Given the description of an element on the screen output the (x, y) to click on. 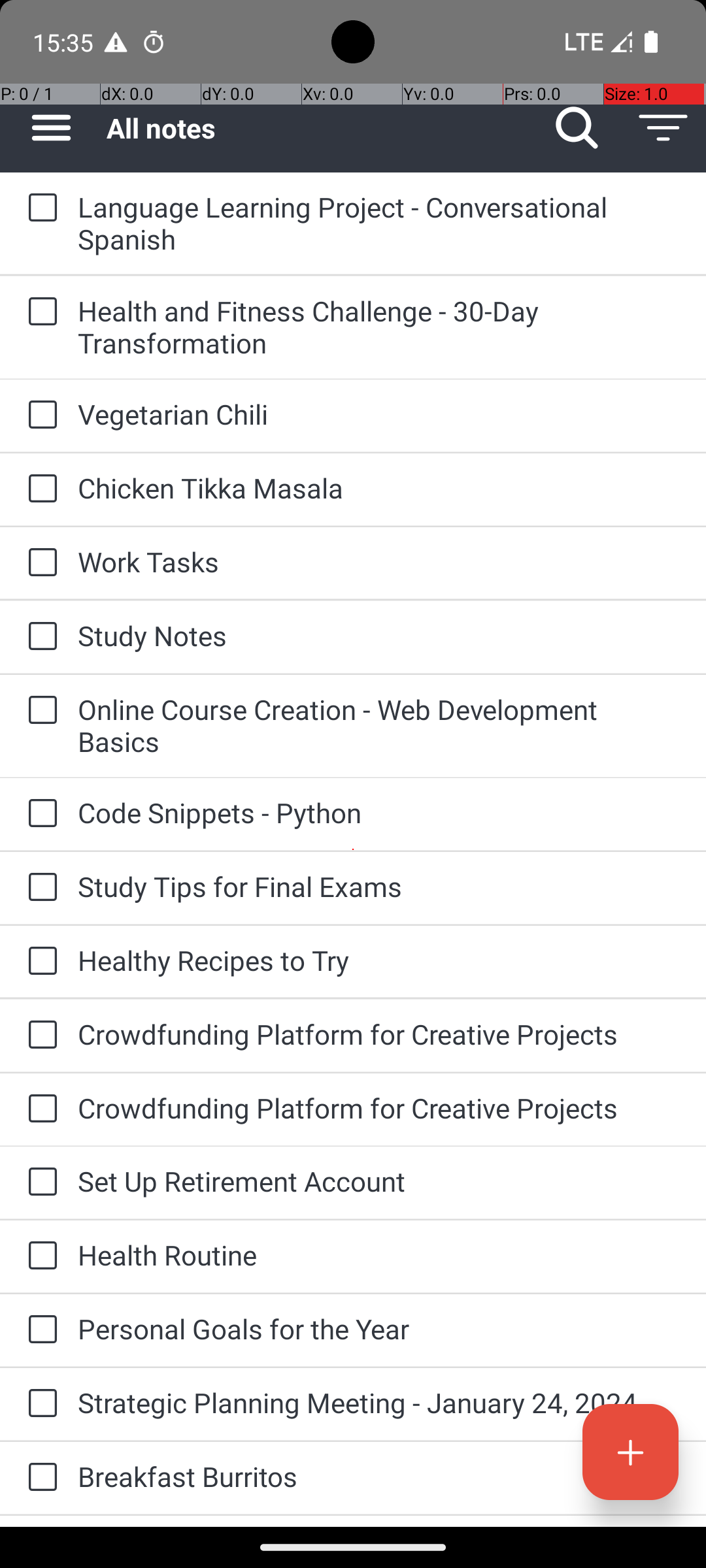
to-do: Language Learning Project - Conversational Spanish Element type: android.widget.CheckBox (38, 208)
Language Learning Project - Conversational Spanish Element type: android.widget.TextView (378, 222)
to-do: Health and Fitness Challenge - 30-Day Transformation Element type: android.widget.CheckBox (38, 312)
Health and Fitness Challenge - 30-Day Transformation Element type: android.widget.TextView (378, 326)
to-do: Vegetarian Chili Element type: android.widget.CheckBox (38, 415)
Vegetarian Chili Element type: android.widget.TextView (378, 413)
to-do: Chicken Tikka Masala Element type: android.widget.CheckBox (38, 489)
Chicken Tikka Masala Element type: android.widget.TextView (378, 487)
to-do: Work Tasks Element type: android.widget.CheckBox (38, 563)
Work Tasks Element type: android.widget.TextView (378, 561)
to-do: Study Notes Element type: android.widget.CheckBox (38, 637)
Study Notes Element type: android.widget.TextView (378, 634)
to-do: Online Course Creation - Web Development Basics Element type: android.widget.CheckBox (38, 710)
Online Course Creation - Web Development Basics Element type: android.widget.TextView (378, 724)
to-do: Study Tips for Final Exams Element type: android.widget.CheckBox (38, 887)
Study Tips for Final Exams Element type: android.widget.TextView (378, 885)
to-do: Healthy Recipes to Try Element type: android.widget.CheckBox (38, 961)
Healthy Recipes to Try Element type: android.widget.TextView (378, 959)
to-do: Crowdfunding Platform for Creative Projects Element type: android.widget.CheckBox (38, 1035)
Crowdfunding Platform for Creative Projects Element type: android.widget.TextView (378, 1033)
to-do: Set Up Retirement Account Element type: android.widget.CheckBox (38, 1182)
Set Up Retirement Account Element type: android.widget.TextView (378, 1180)
to-do: Health Routine Element type: android.widget.CheckBox (38, 1256)
Health Routine Element type: android.widget.TextView (378, 1254)
to-do: Personal Goals for the Year Element type: android.widget.CheckBox (38, 1330)
Personal Goals for the Year Element type: android.widget.TextView (378, 1328)
to-do: Strategic Planning Meeting - January 24, 2024 Element type: android.widget.CheckBox (38, 1403)
Strategic Planning Meeting - January 24, 2024 Element type: android.widget.TextView (378, 1402)
to-do: Breakfast Burritos Element type: android.widget.CheckBox (38, 1477)
Breakfast Burritos Element type: android.widget.TextView (378, 1475)
